Given the description of an element on the screen output the (x, y) to click on. 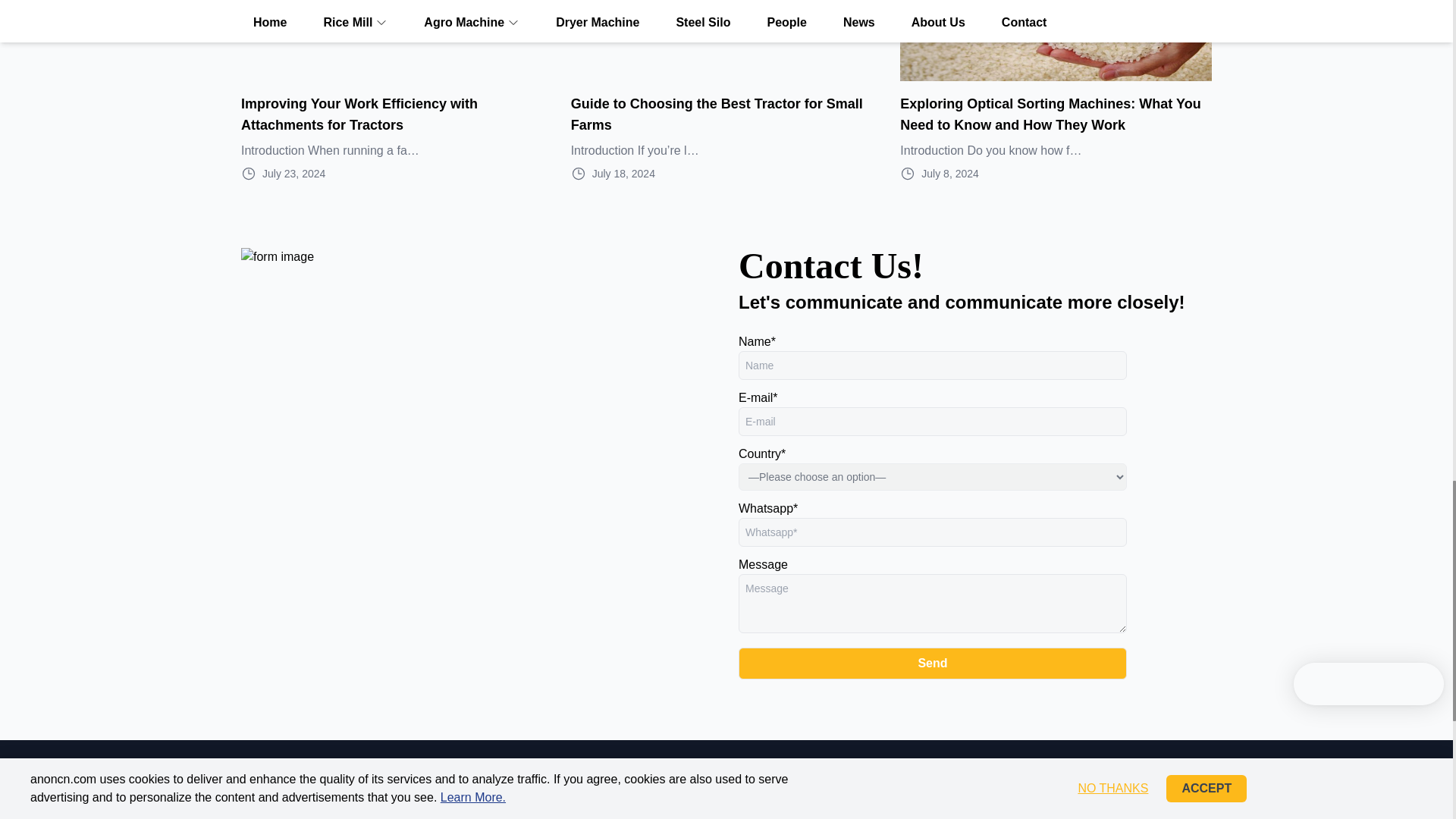
Send (932, 663)
